Given the description of an element on the screen output the (x, y) to click on. 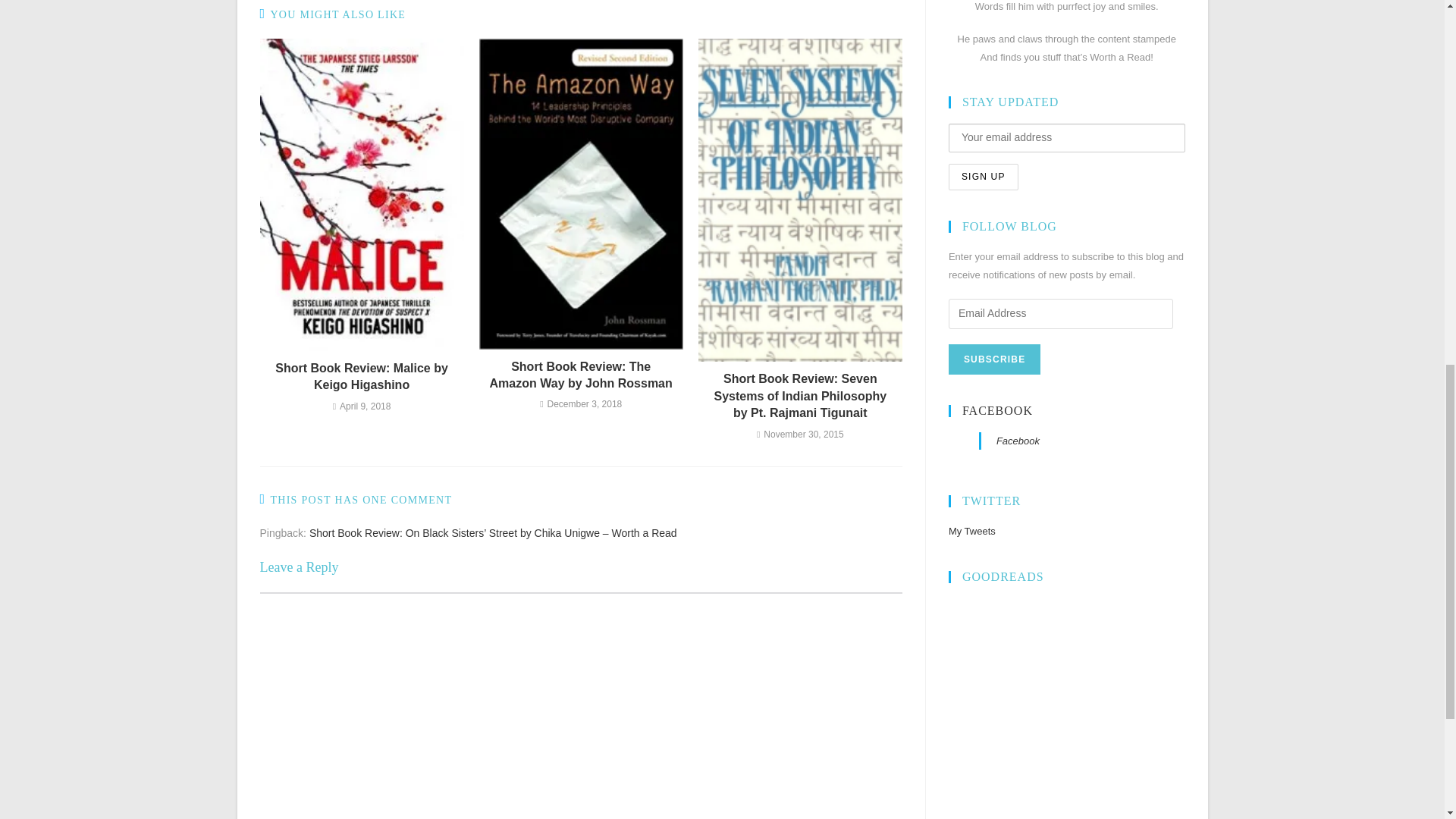
My Tweets (972, 531)
Short Book Review: Malice by Keigo Higashino (360, 376)
Sign up (983, 176)
Short Book Review: Malice by Keigo Higashino (360, 376)
Short Book Review: The Amazon Way by John Rossman (580, 375)
Sign up (983, 176)
Short Book Review: The Amazon Way by John Rossman (580, 375)
FACEBOOK (997, 410)
Subscribe (995, 358)
Facebook (1017, 440)
Subscribe (995, 358)
